Given the description of an element on the screen output the (x, y) to click on. 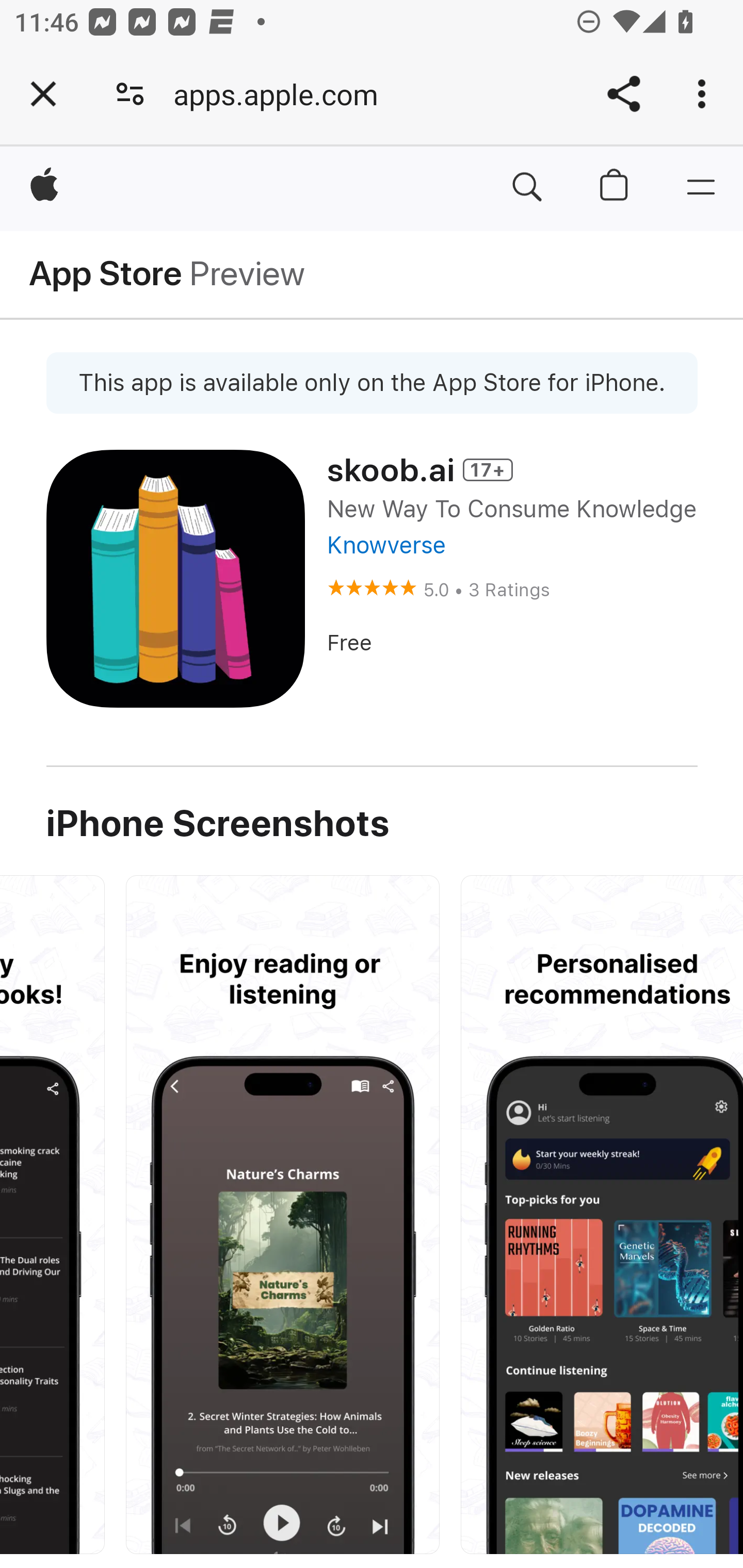
Close tab (43, 93)
Share (623, 93)
Customize and control Google Chrome (705, 93)
Connection is secure (129, 93)
apps.apple.com (282, 93)
Apple (45, 188)
Search apple.com (526, 188)
Shopping Bag (614, 188)
Menu (700, 188)
App Store (106, 274)
Knowverse (385, 544)
